Given the description of an element on the screen output the (x, y) to click on. 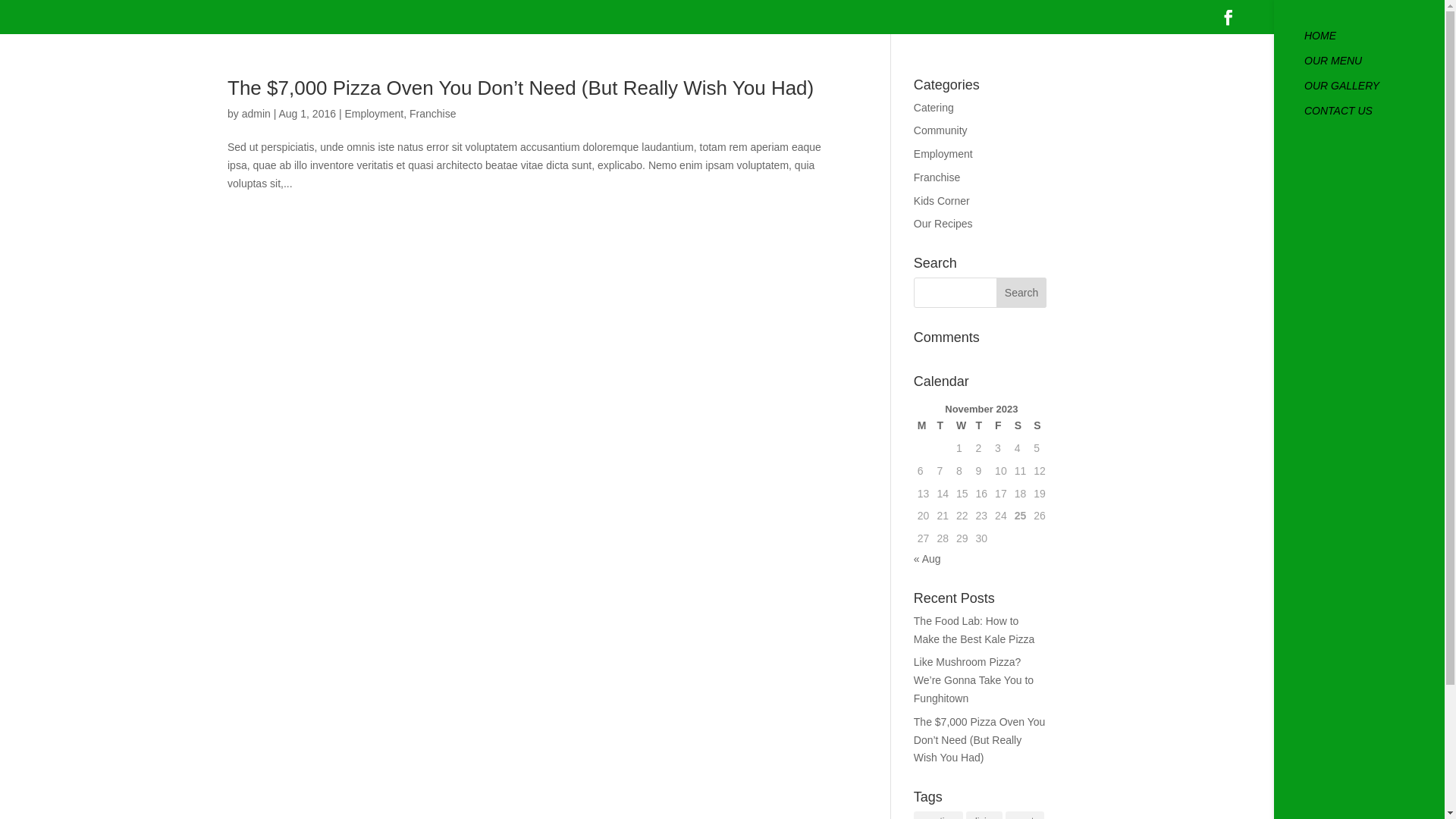
OUR GALLERY Element type: text (1374, 92)
Catering Element type: text (933, 107)
Franchise Element type: text (432, 113)
OUR MENU Element type: text (1374, 67)
Community Element type: text (940, 130)
Kids Corner Element type: text (941, 200)
CONTACT US Element type: text (1374, 117)
Franchise Element type: text (936, 177)
The Food Lab: How to Make the Best Kale Pizza Element type: text (974, 630)
Search Element type: text (1021, 292)
Employment Element type: text (942, 153)
Our Recipes Element type: text (942, 223)
admin Element type: text (255, 113)
HOME Element type: text (1374, 42)
Employment Element type: text (373, 113)
